Given the description of an element on the screen output the (x, y) to click on. 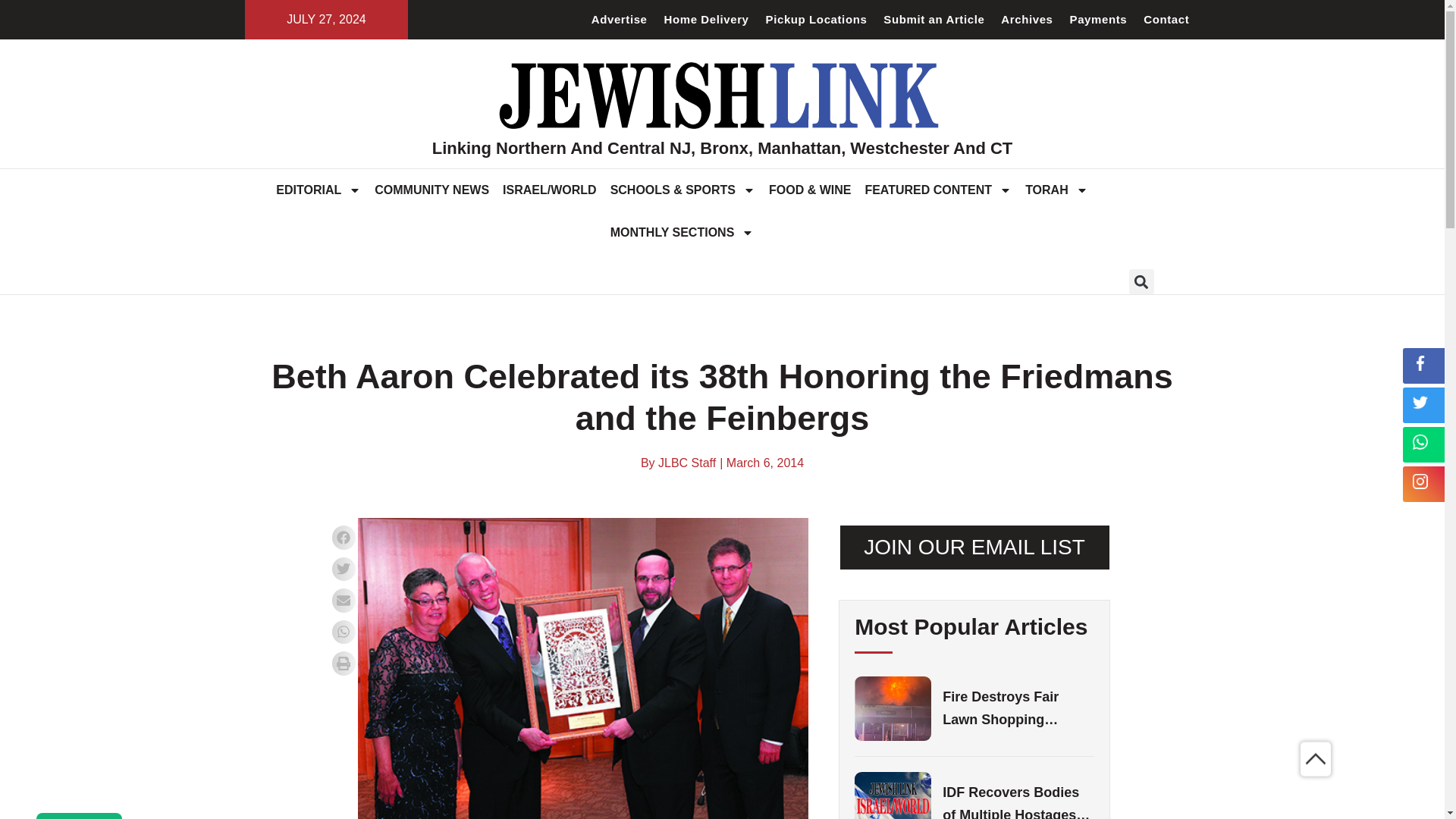
Advertise (619, 19)
Archives (1026, 19)
Contact (1165, 19)
Payments (1098, 19)
Submit an Article (933, 19)
Pickup Locations (816, 19)
Home Delivery (706, 19)
